Given the description of an element on the screen output the (x, y) to click on. 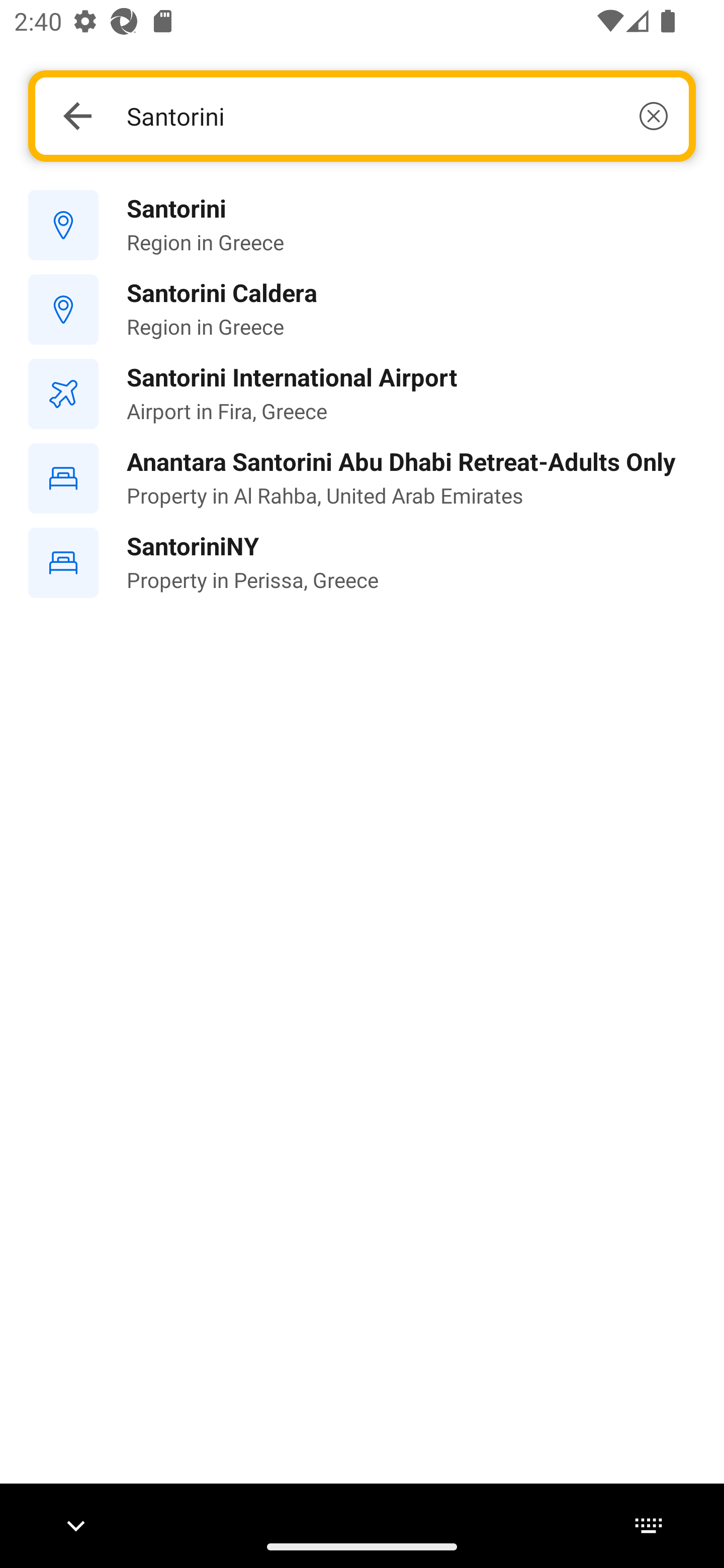
Santorini (396, 115)
Santorini Region in Greece (362, 225)
Santorini Caldera Region in Greece (362, 309)
SantoriniNY Property in Perissa, Greece (362, 562)
